Given the description of an element on the screen output the (x, y) to click on. 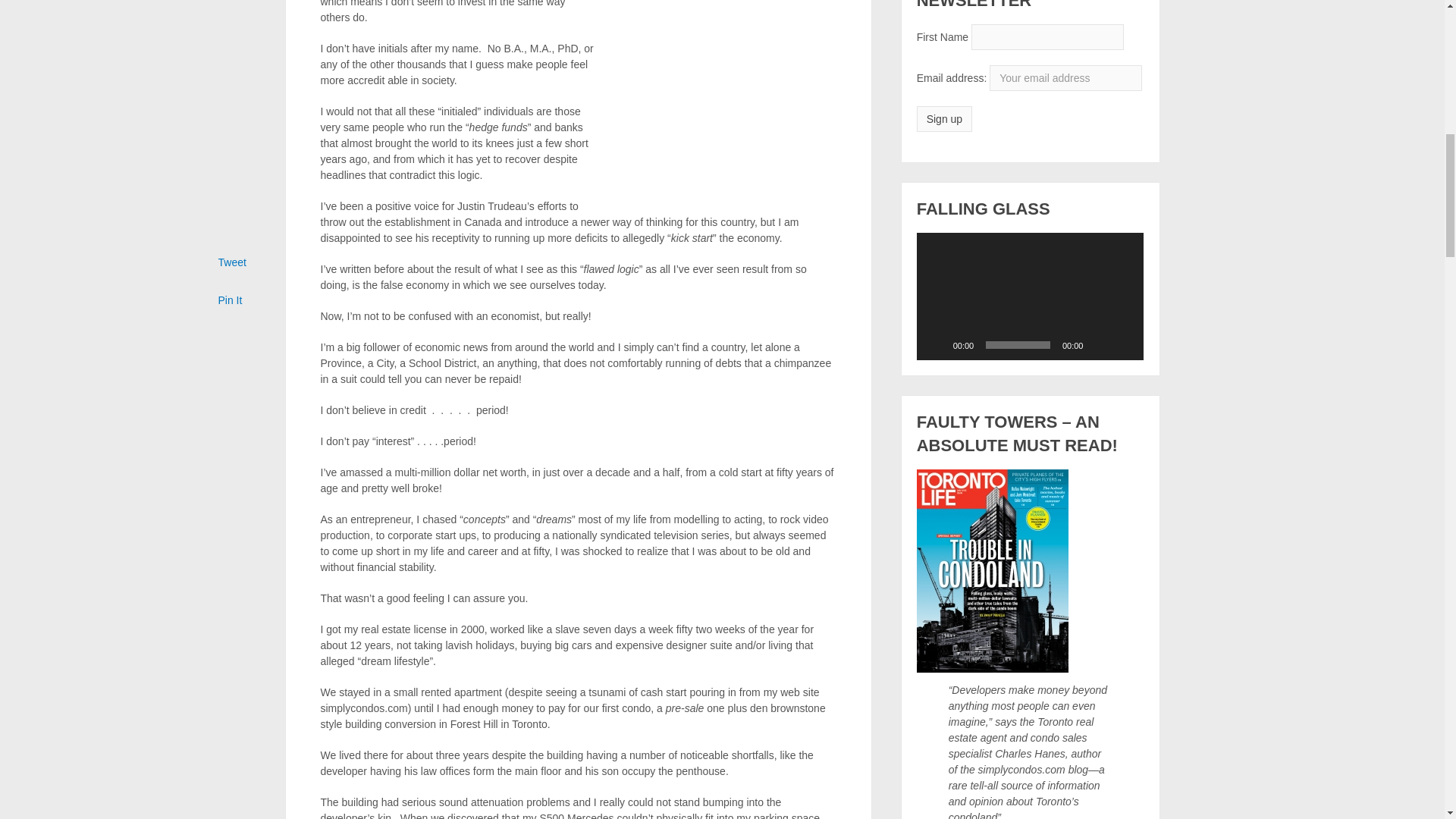
Sign up (944, 118)
Mute (1099, 344)
Fullscreen (1123, 344)
Play (935, 344)
Sign up (944, 118)
